Given the description of an element on the screen output the (x, y) to click on. 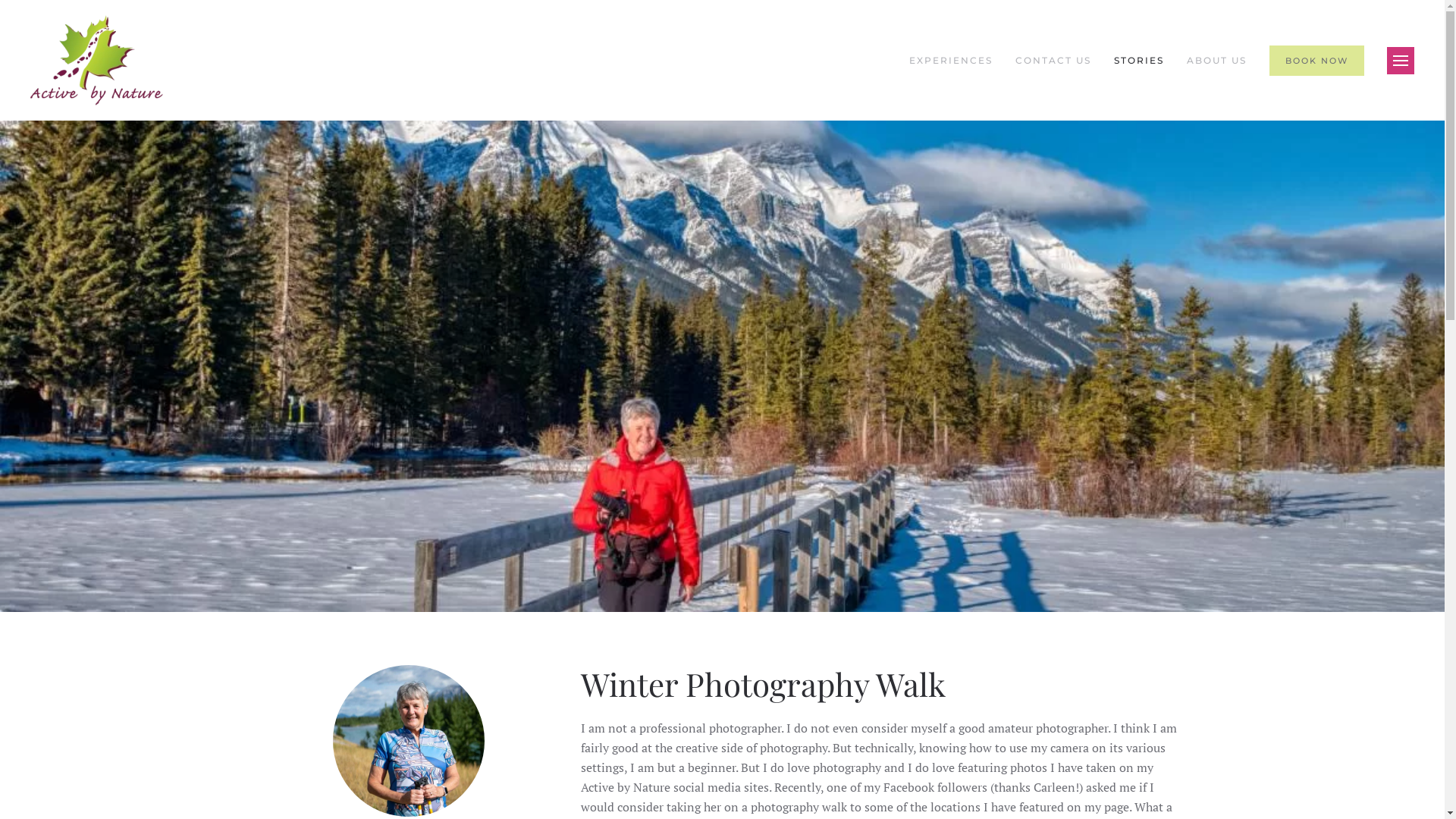
BOOK NOW Element type: text (1316, 60)
EXPERIENCES Element type: text (950, 60)
STORIES Element type: text (1138, 60)
ABOUT US Element type: text (1216, 60)
CONTACT US Element type: text (1053, 60)
